Given the description of an element on the screen output the (x, y) to click on. 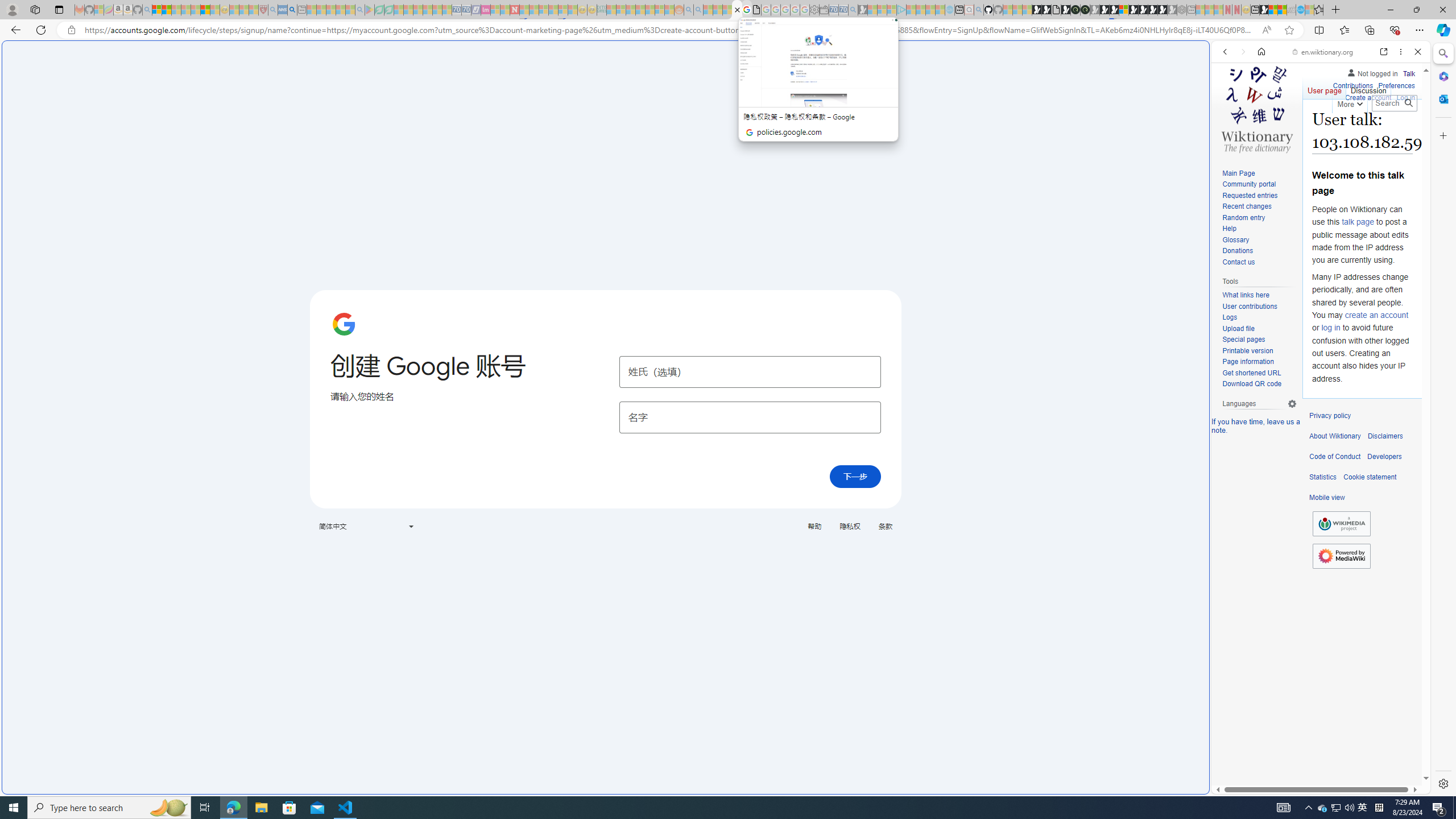
Create account (1367, 96)
Cookie statement (1369, 477)
AutomationID: footer-copyrightico (1341, 523)
User contributions (1248, 306)
Wikimedia Foundation (1341, 523)
If you have time, leave us a note. (1255, 425)
